Given the description of an element on the screen output the (x, y) to click on. 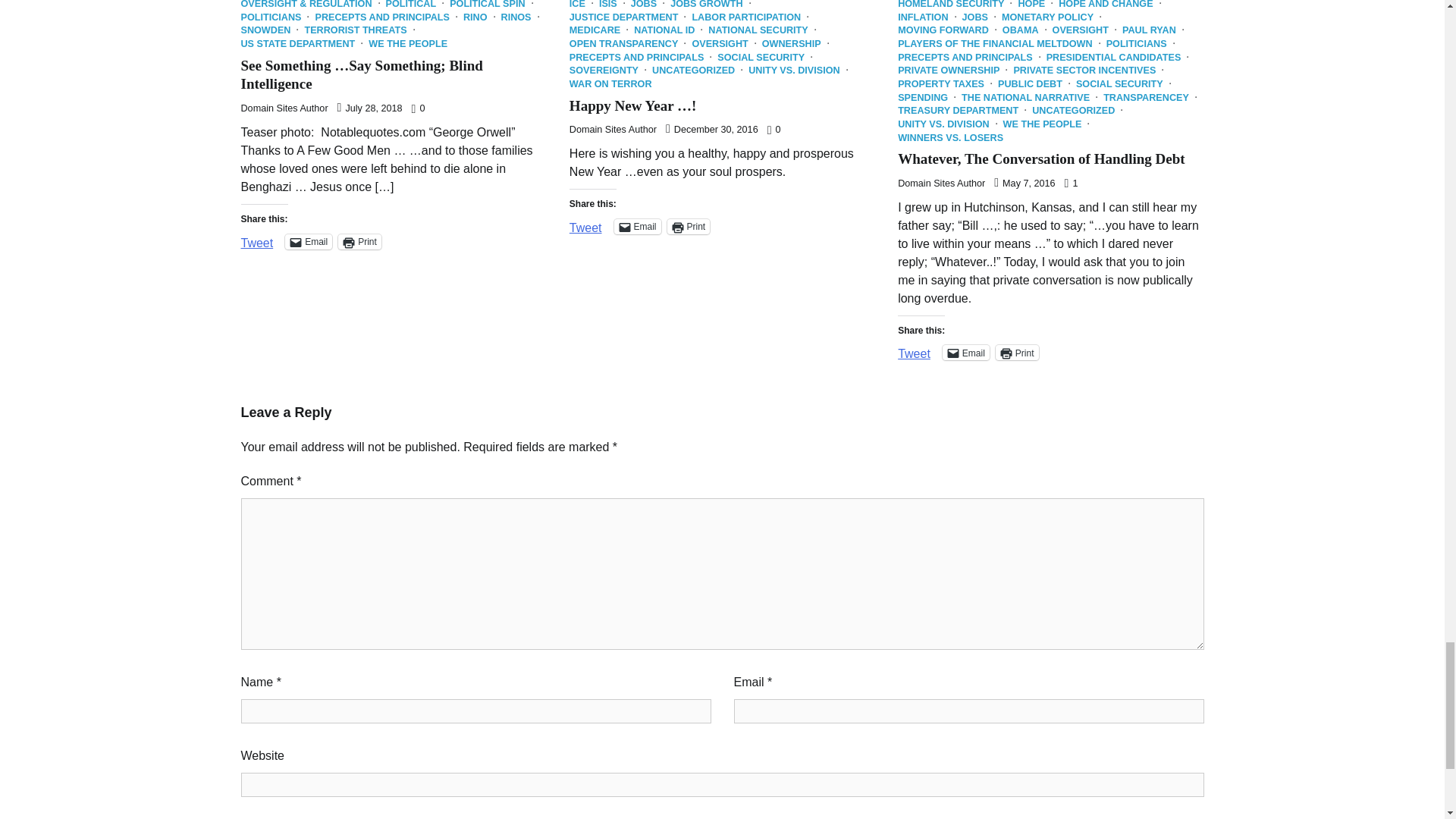
Click to email a link to a friend (637, 226)
Click to print (1017, 352)
Click to print (688, 226)
Click to print (359, 241)
Click to email a link to a friend (308, 241)
Click to email a link to a friend (966, 352)
